Given the description of an element on the screen output the (x, y) to click on. 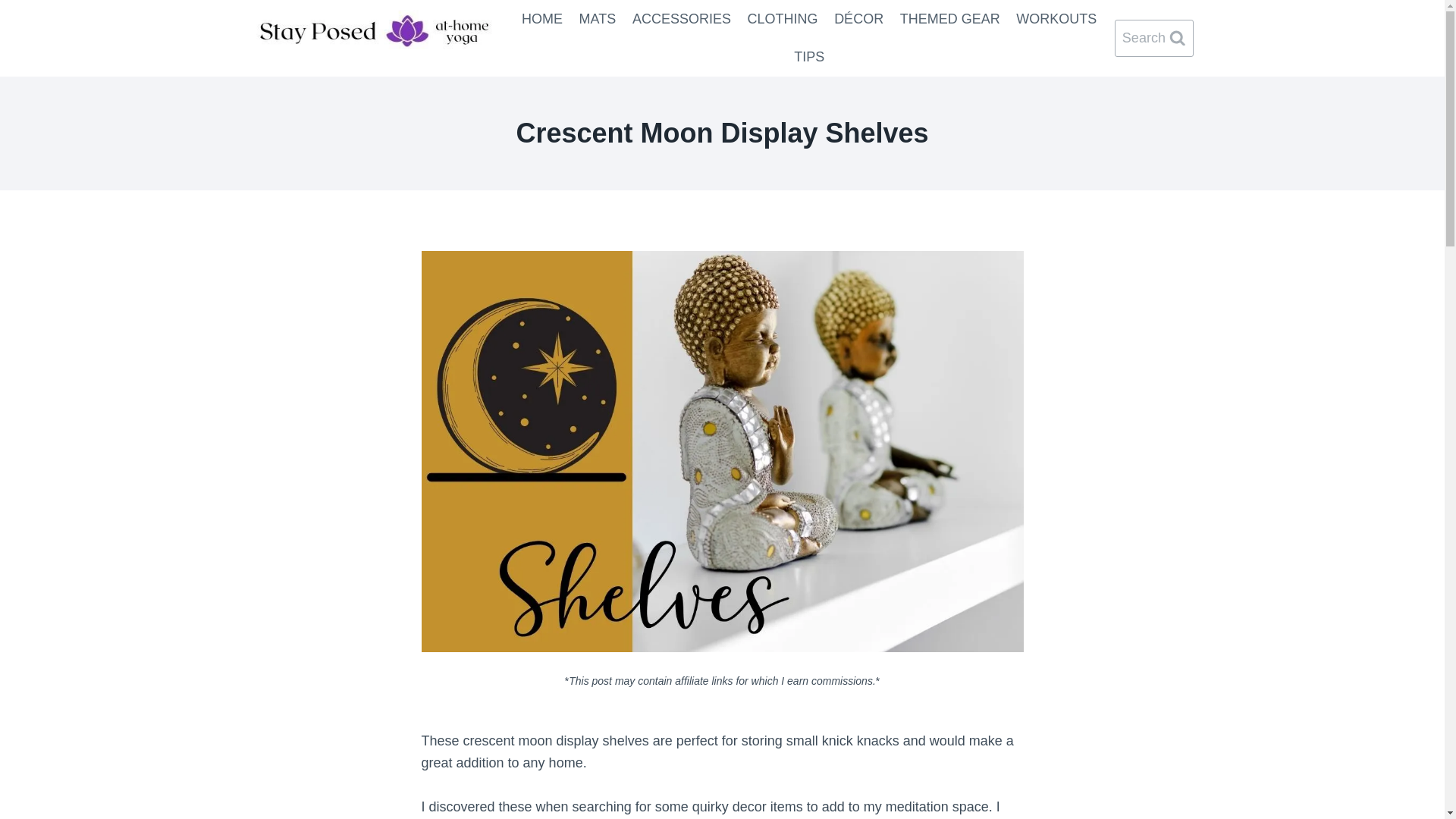
ACCESSORIES (681, 18)
WORKOUTS (1057, 18)
THEMED GEAR (950, 18)
MATS (597, 18)
HOME (541, 18)
TIPS (809, 56)
Search (1154, 37)
CLOTHING (783, 18)
